Given the description of an element on the screen output the (x, y) to click on. 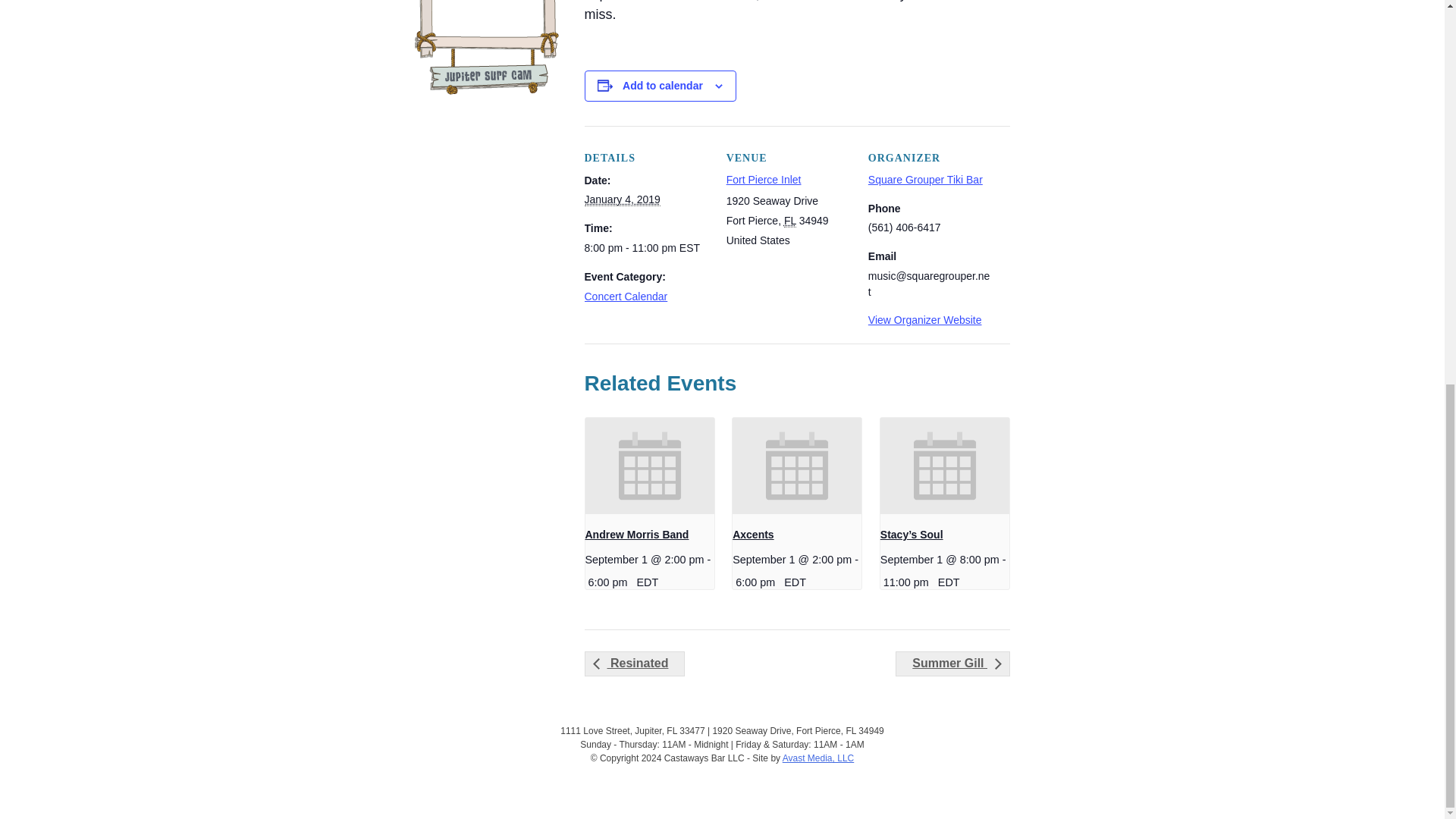
Andrew Morris Band (636, 534)
Square Grouper Tiki Bar (924, 179)
Axcents (752, 534)
View Organizer Website (924, 319)
Summer Gill (952, 662)
2019-01-04 (621, 199)
Avast Media, LLC (818, 757)
Resinated (634, 662)
Florida (790, 220)
2019-01-04 (645, 248)
